Given the description of an element on the screen output the (x, y) to click on. 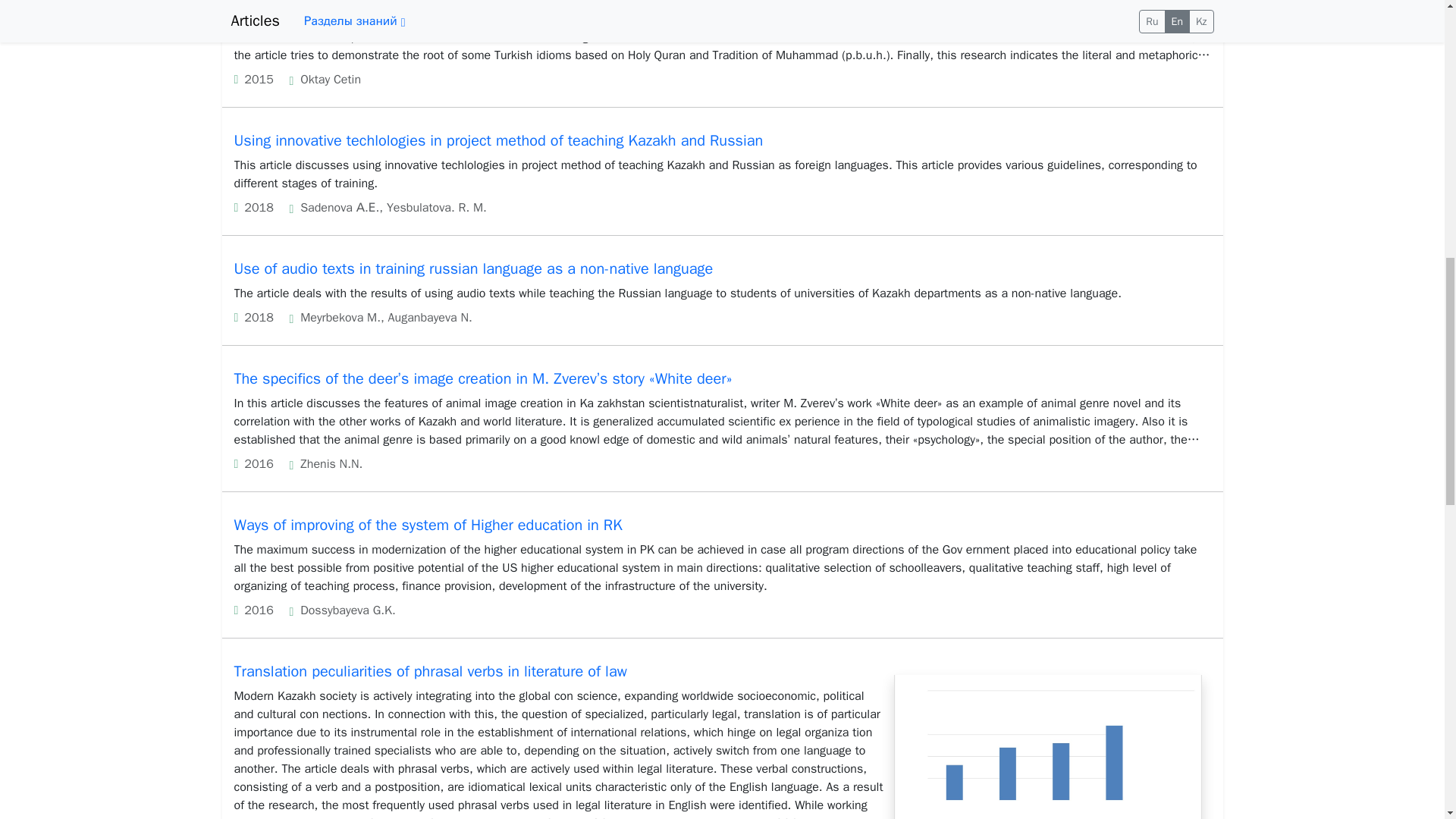
Ways of improving of the system of Higher education in RK (426, 524)
